Given the description of an element on the screen output the (x, y) to click on. 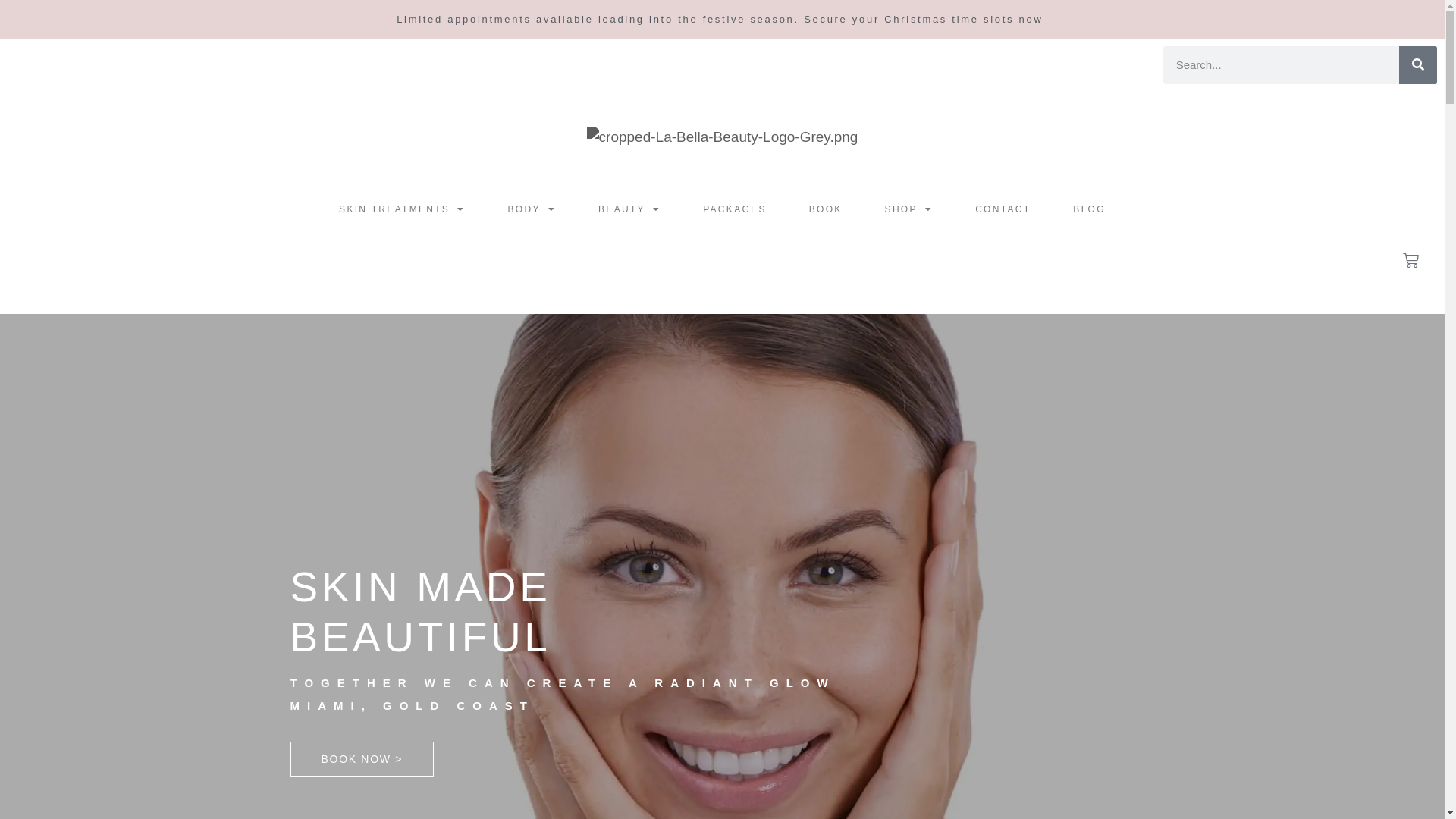
cropped-La-Bella-Beauty-Logo-Grey.png Element type: hover (722, 137)
BOOK Element type: text (825, 209)
BLOG Element type: text (1089, 209)
BEAUTY Element type: text (629, 209)
PACKAGES Element type: text (734, 209)
SHOP Element type: text (909, 209)
BODY Element type: text (532, 209)
CONTACT Element type: text (1002, 209)
SKIN TREATMENTS Element type: text (401, 209)
BOOK NOW > Element type: text (361, 758)
